Given the description of an element on the screen output the (x, y) to click on. 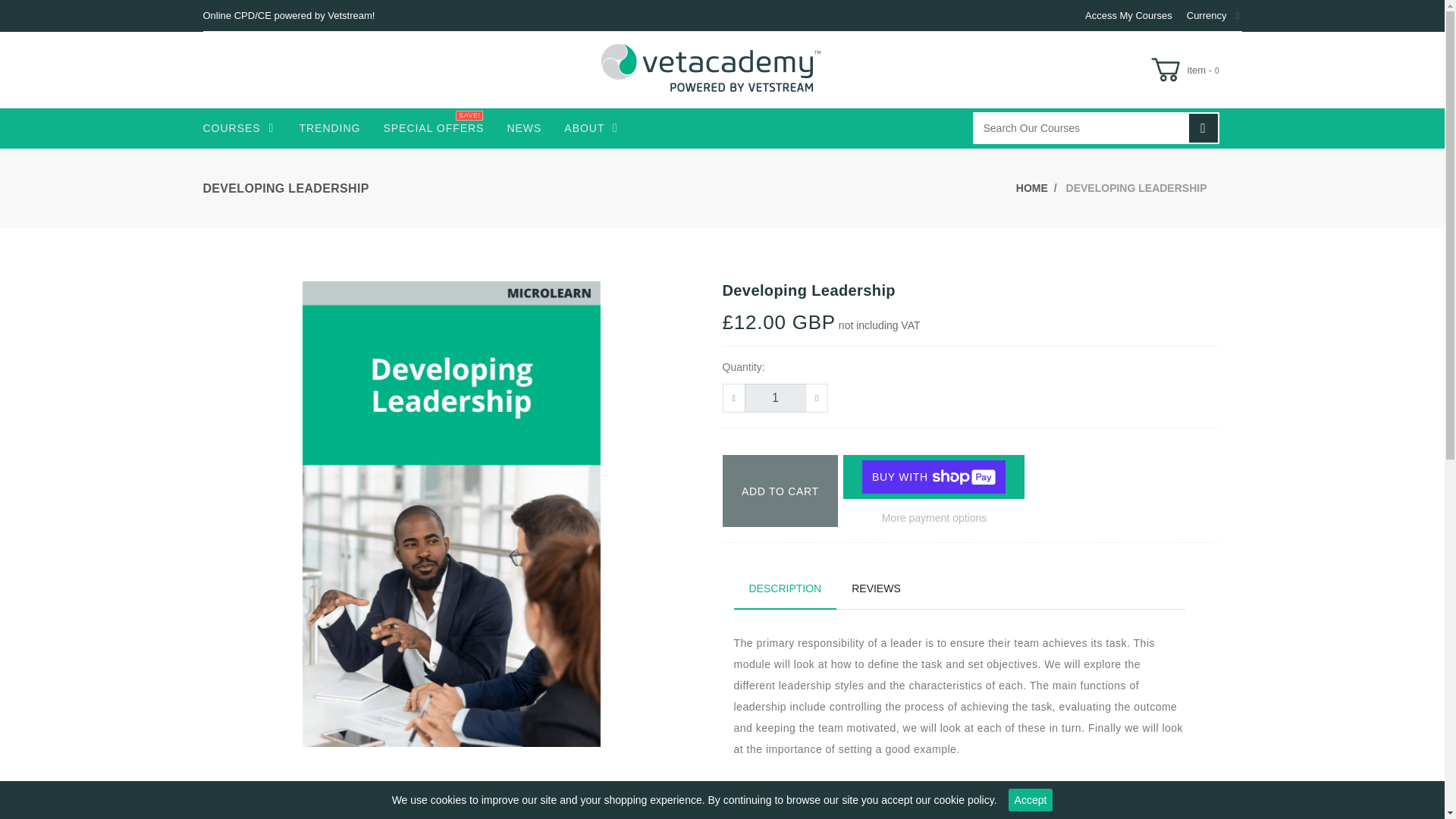
Access My Courses (1128, 15)
Accept (1030, 799)
COURSES (238, 125)
1 (774, 398)
